Given the description of an element on the screen output the (x, y) to click on. 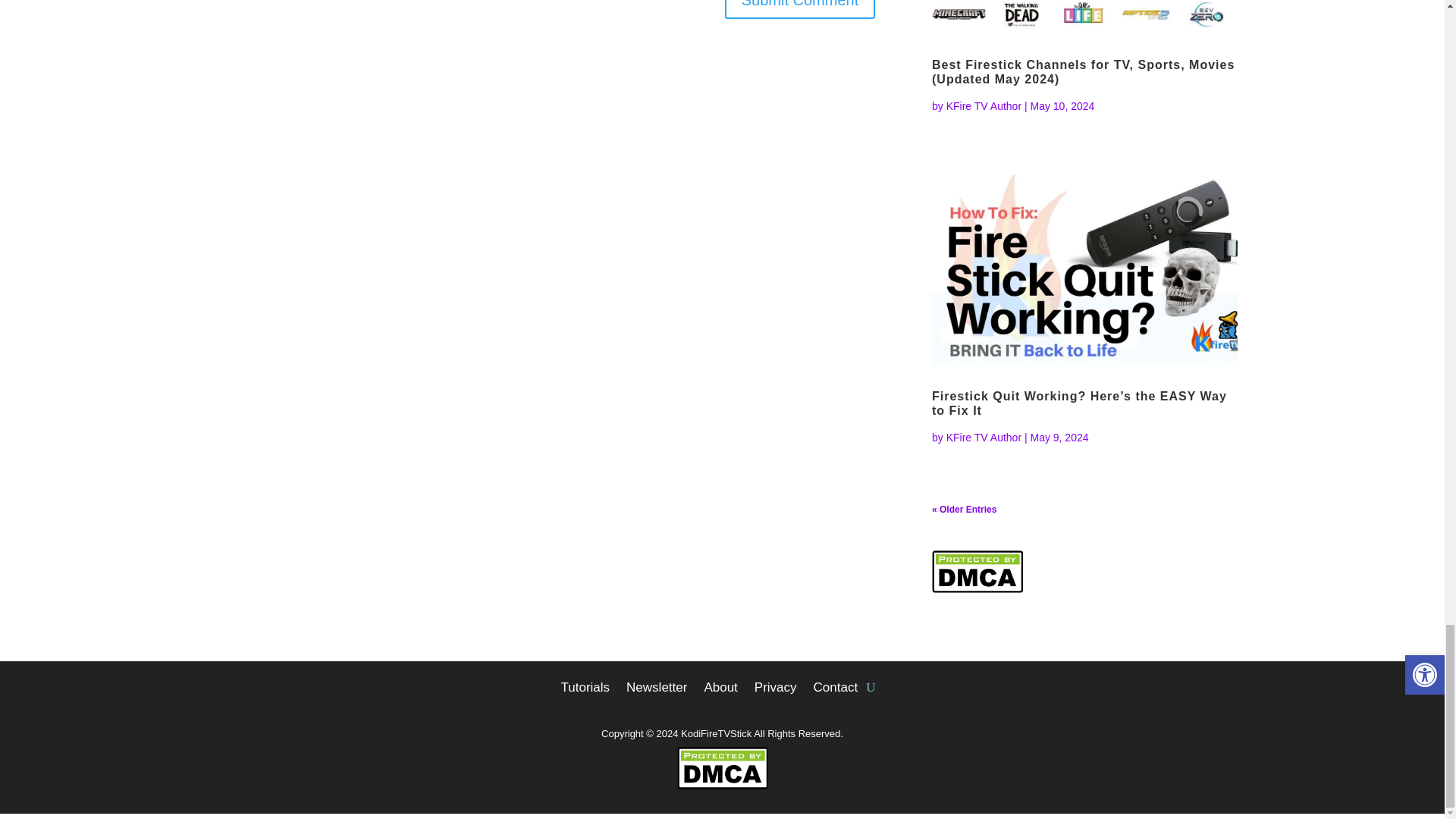
IP Vanish Generic (800, 4)
